Given the description of an element on the screen output the (x, y) to click on. 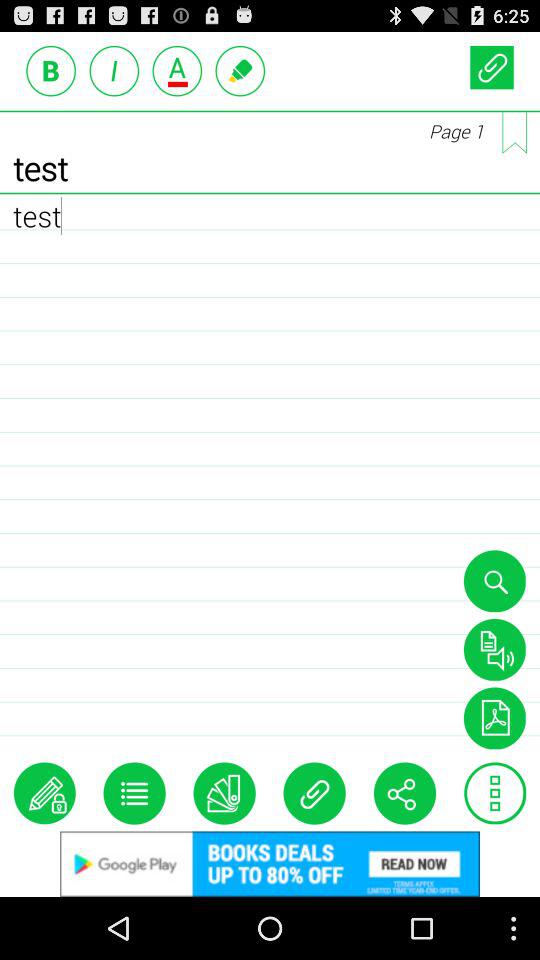
show list (134, 793)
